Given the description of an element on the screen output the (x, y) to click on. 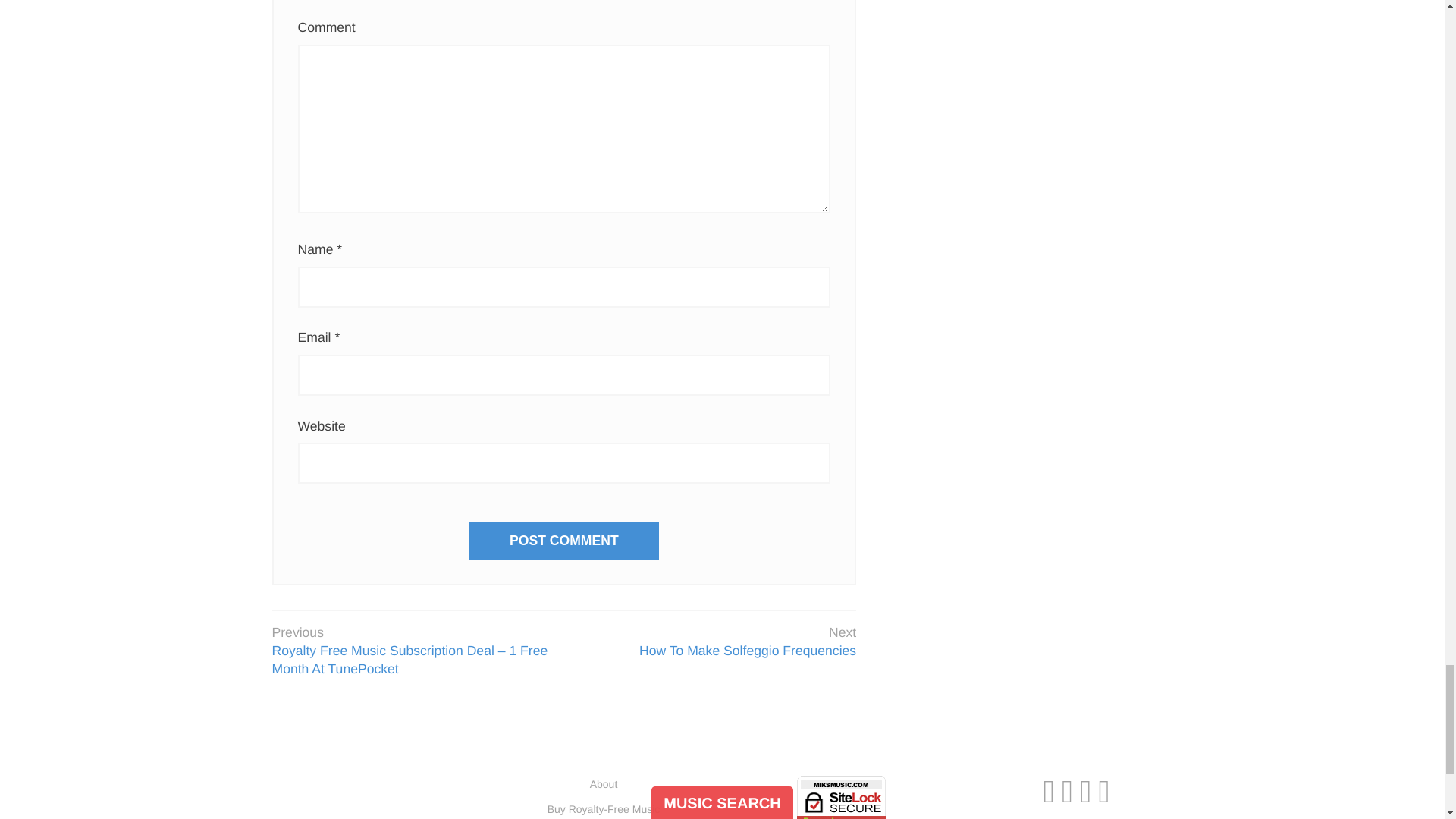
Post Comment (563, 540)
